Given the description of an element on the screen output the (x, y) to click on. 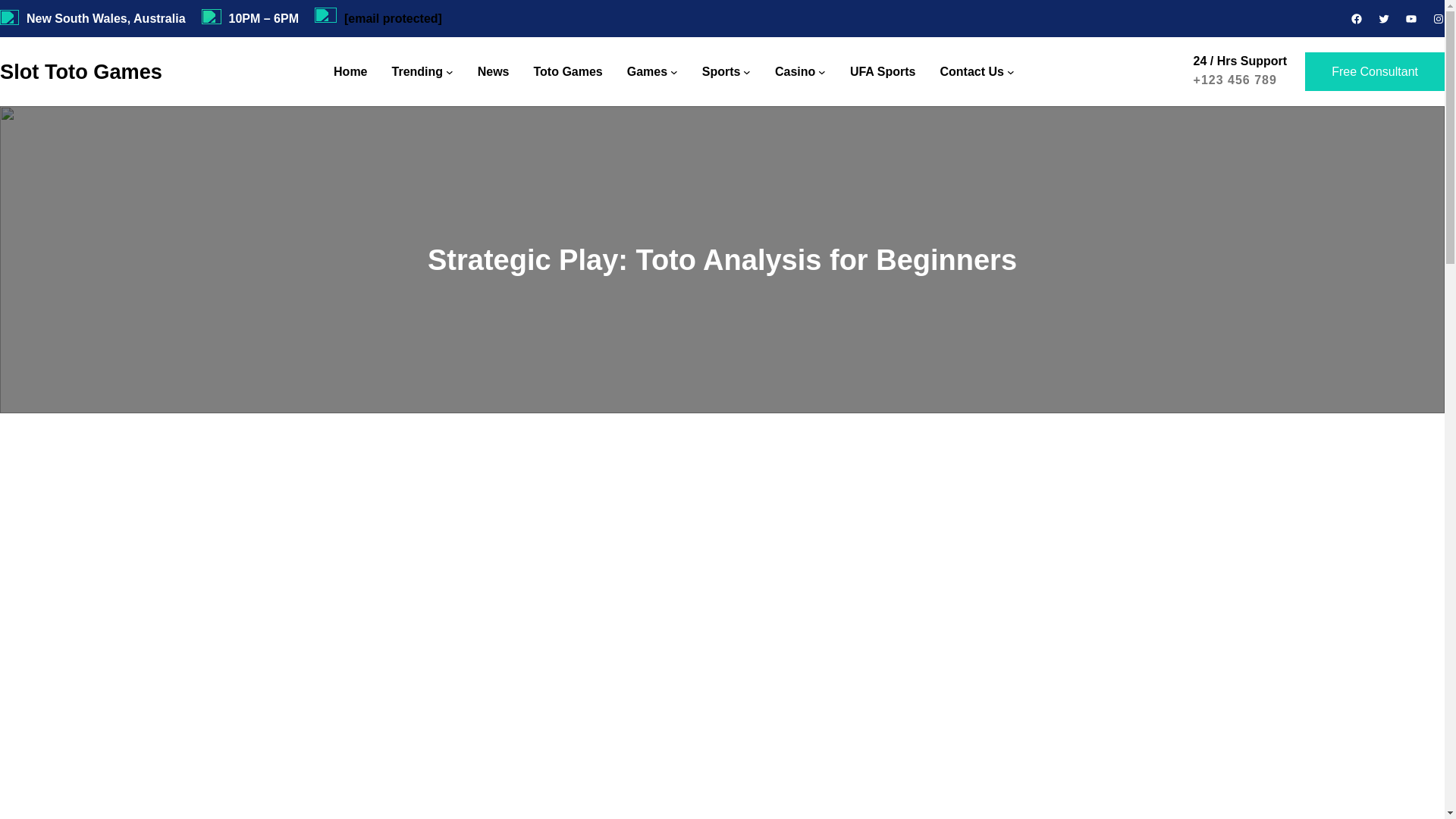
YouTube (1410, 19)
Sports (721, 71)
Home (349, 71)
Games (646, 71)
News (493, 71)
Casino (794, 71)
Facebook (1356, 19)
Contact Us (971, 71)
UFA Sports (882, 71)
Twitter (1383, 19)
Slot Toto Games (80, 72)
Toto Games (567, 71)
Trending (417, 71)
